Given the description of an element on the screen output the (x, y) to click on. 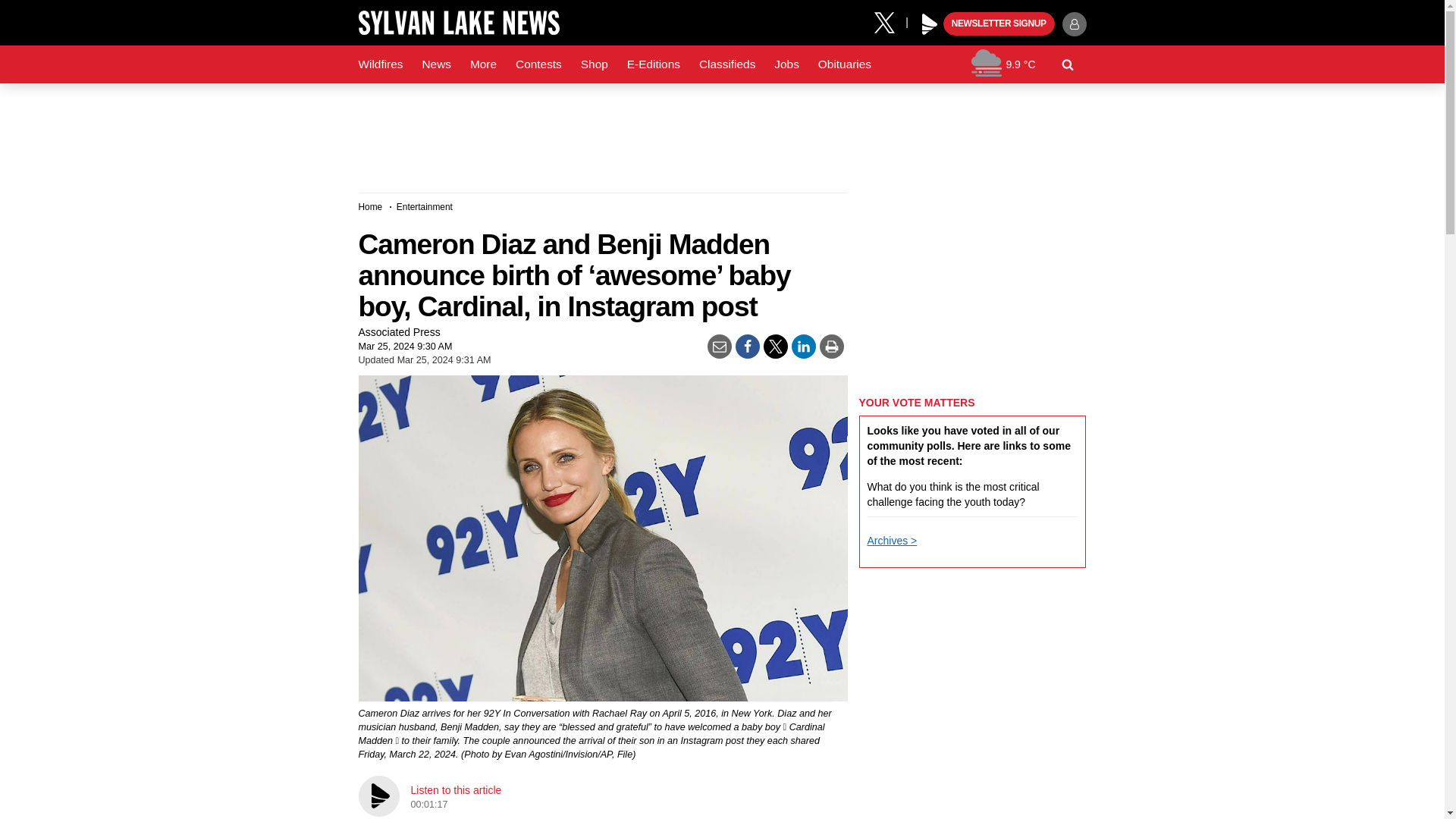
Wildfires (380, 64)
Black Press Media (929, 24)
Play (929, 24)
NEWSLETTER SIGNUP (998, 24)
X (889, 21)
News (435, 64)
